Given the description of an element on the screen output the (x, y) to click on. 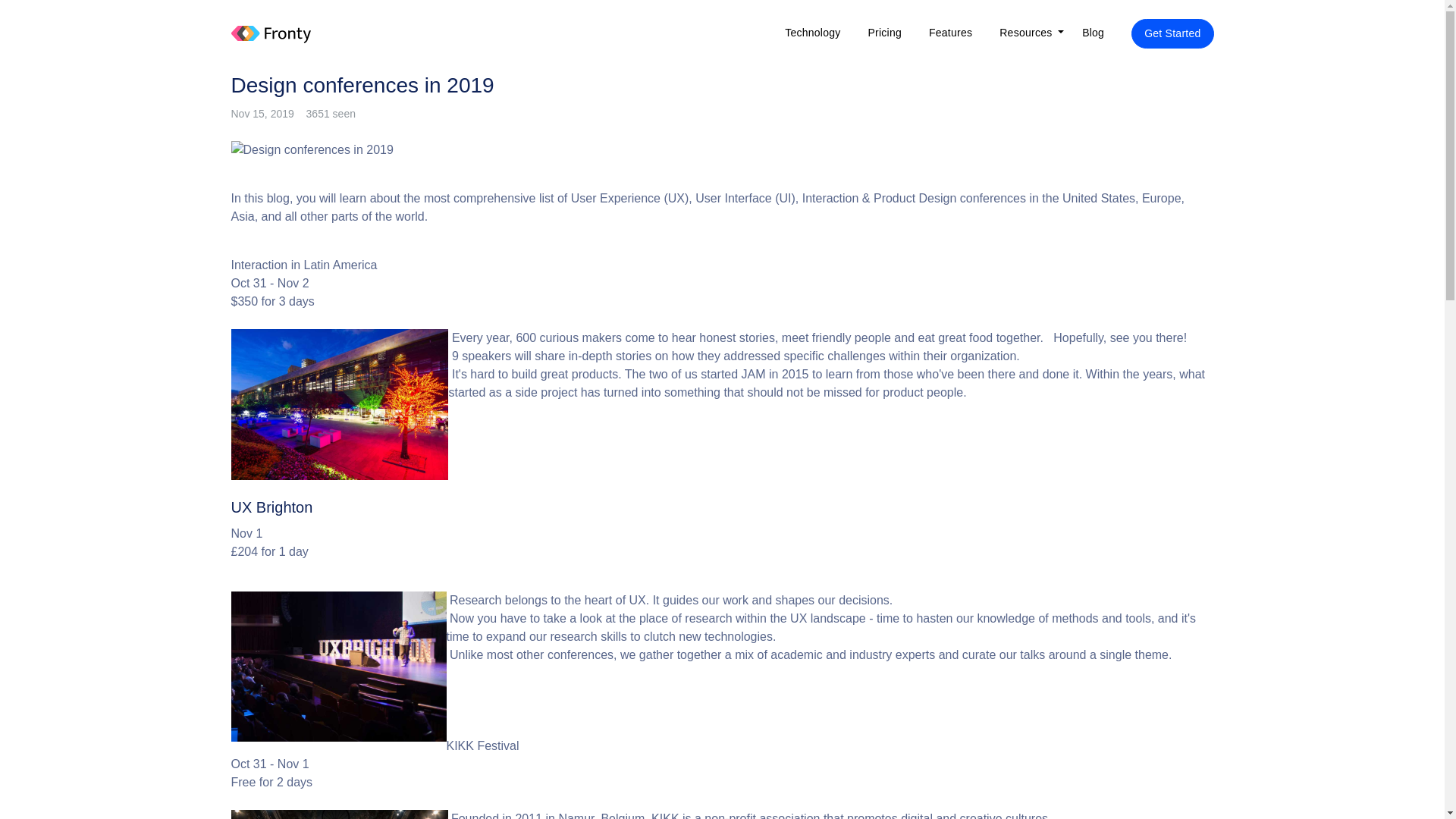
Blog (1093, 31)
Resources (1028, 31)
Features (950, 31)
Pricing (885, 31)
Get Started (1171, 32)
Technology (812, 31)
